Given the description of an element on the screen output the (x, y) to click on. 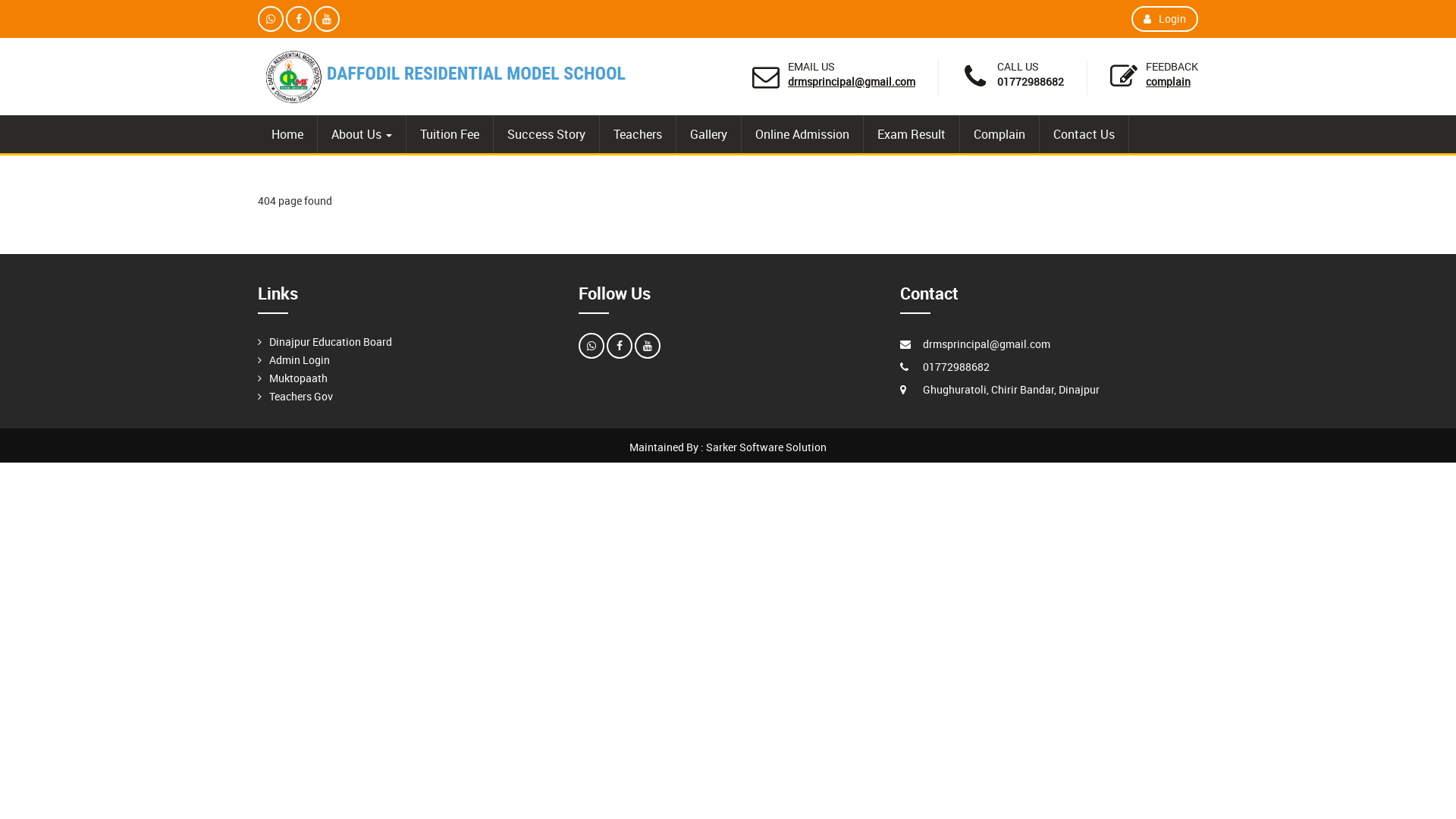
Tuition Fee Element type: text (449, 134)
complain Element type: text (1167, 81)
drmsprincipal@gmail.com Element type: text (851, 81)
Login Element type: text (1164, 18)
Success Story Element type: text (546, 134)
Admin Login Element type: text (299, 359)
Complain Element type: text (999, 134)
Muktopaath Element type: text (298, 377)
Gallery Element type: text (708, 134)
Contact Us Element type: text (1083, 134)
Exam Result Element type: text (911, 134)
About Us Element type: text (361, 134)
drmsprincipal@gmail.com Element type: text (986, 343)
Teachers Element type: text (637, 134)
Teachers Gov Element type: text (300, 396)
Online Admission Element type: text (801, 134)
Dinajpur Education Board Element type: text (330, 341)
Home Element type: text (286, 134)
